Given the description of an element on the screen output the (x, y) to click on. 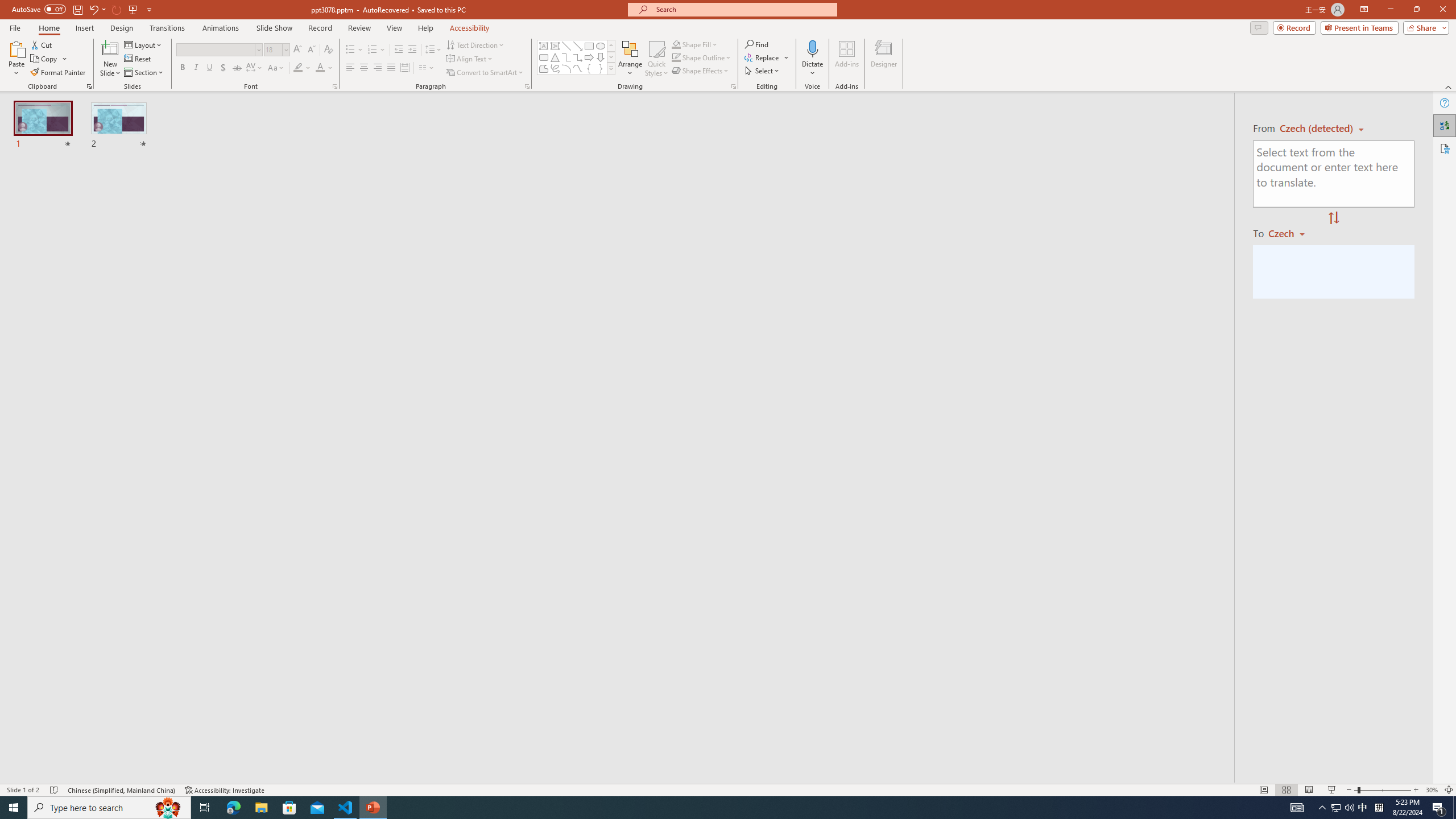
Toggle Primary Side Bar (Ctrl+B) (963, 150)
Class: xterm-link-layer (602, 658)
icon (976, 114)
Terminal (Ctrl+`) (579, 533)
Title actions (1003, 150)
Class: actions-container (1021, 533)
icon (976, 112)
Run and Debug (Ctrl+Shift+D) (76, 353)
Class: next-menu next-hoz widgets--iconMenu--BFkiHRM (976, 114)
